Given the description of an element on the screen output the (x, y) to click on. 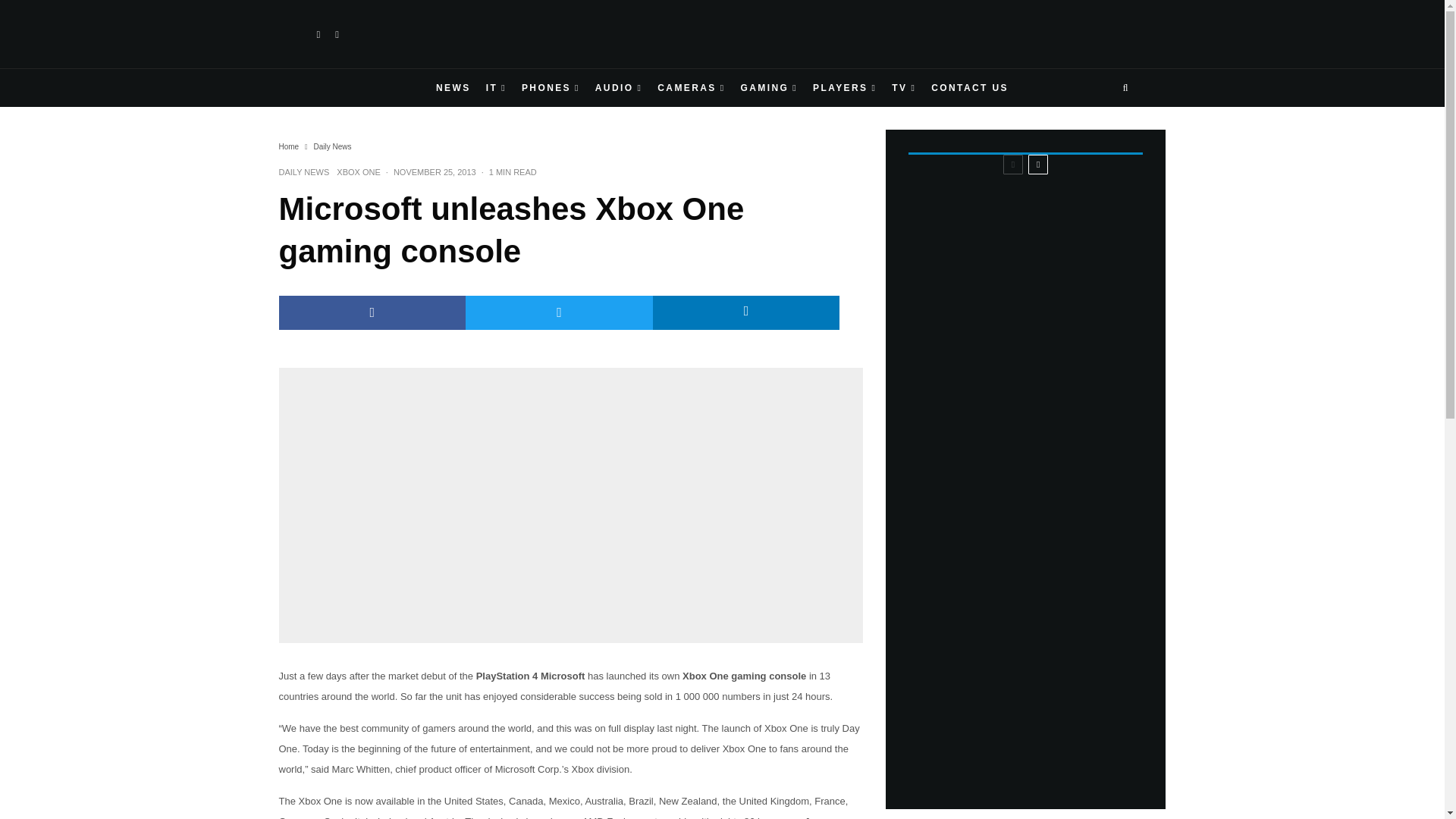
IT (496, 87)
NEWS (453, 87)
PHONES (550, 87)
